Given the description of an element on the screen output the (x, y) to click on. 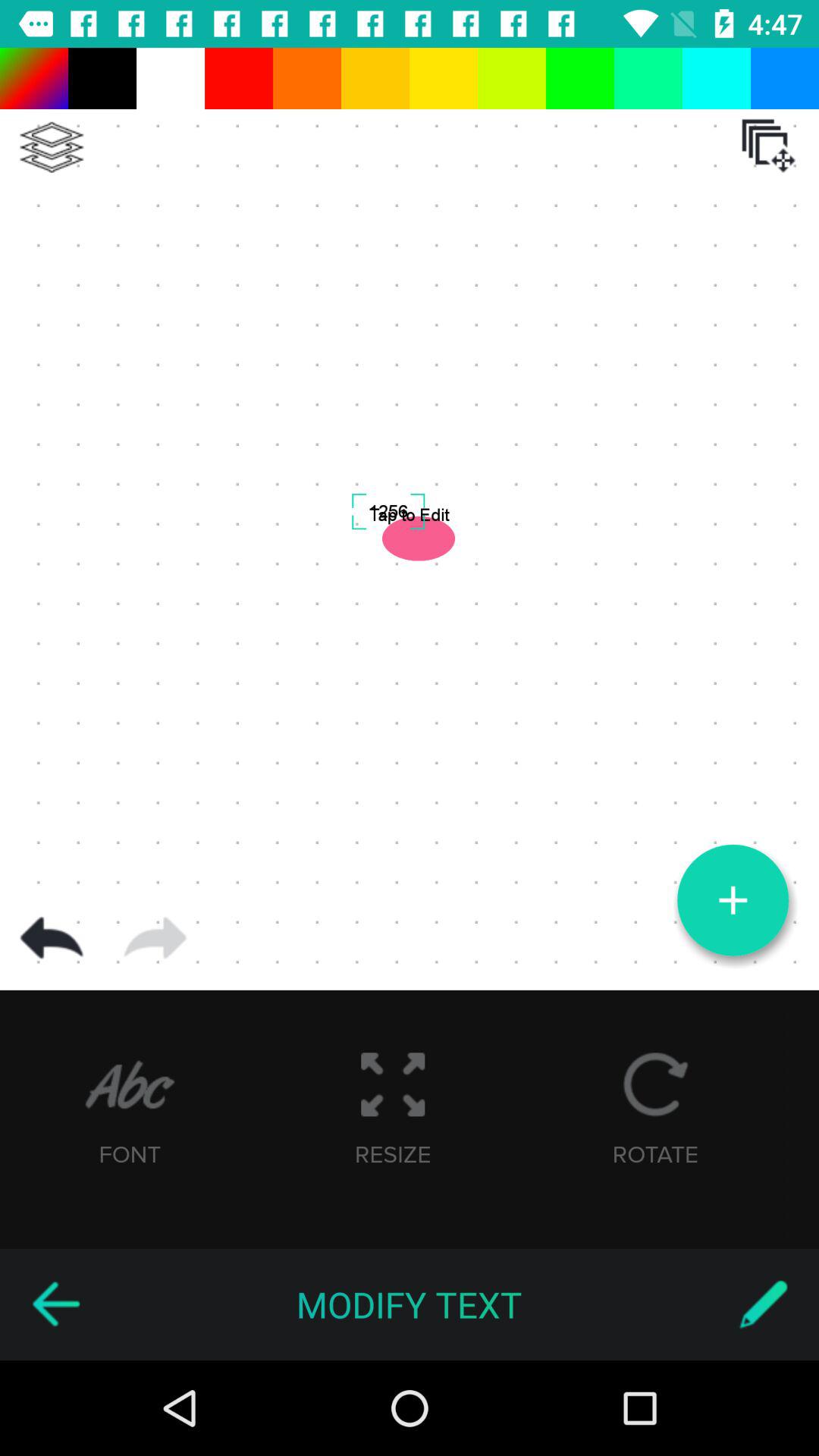
press the icon at the top right corner (768, 145)
